Given the description of an element on the screen output the (x, y) to click on. 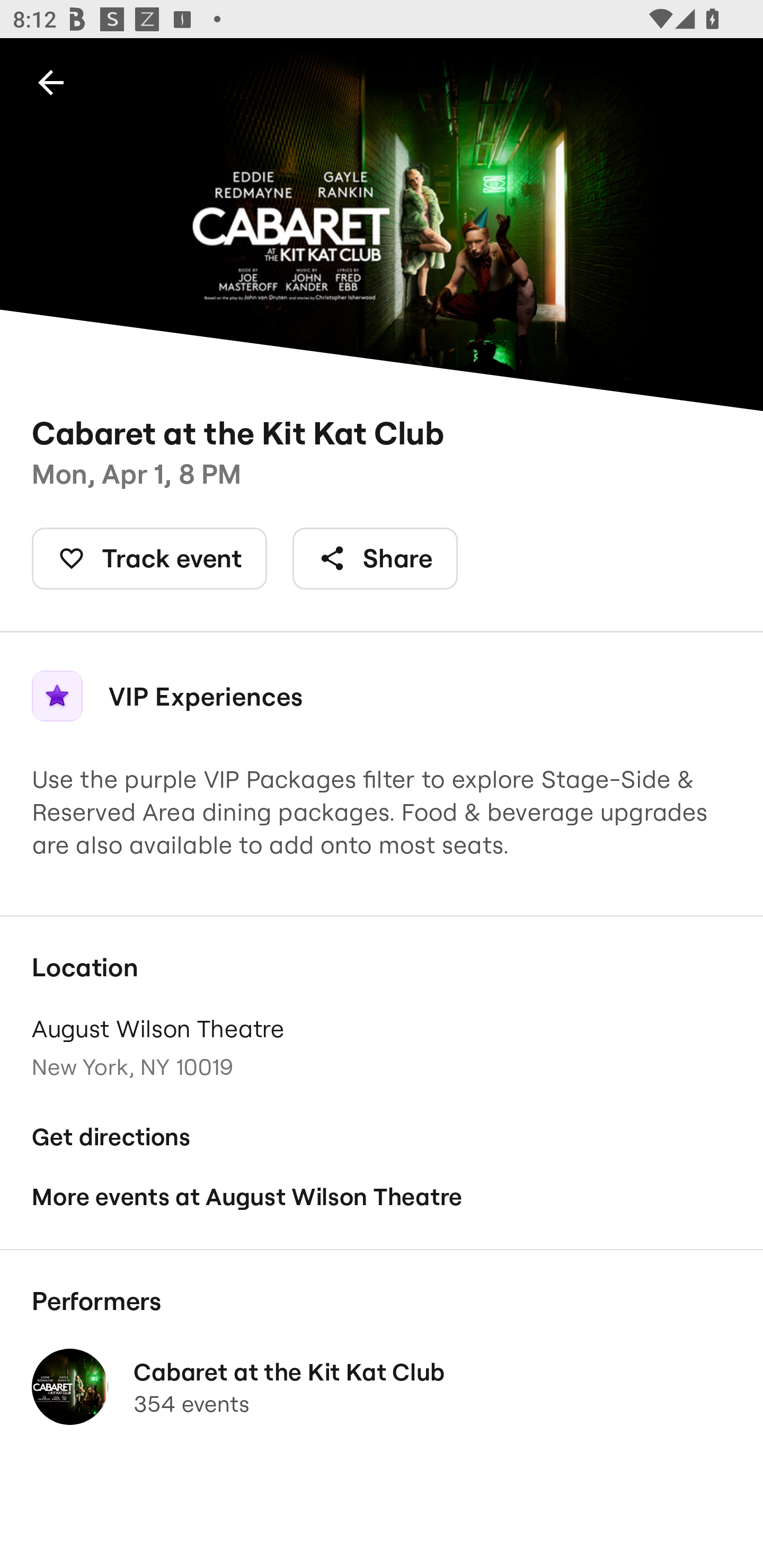
Back (50, 81)
Track event (149, 557)
Share (374, 557)
Get directions (381, 1136)
More events at August Wilson Theatre (381, 1196)
Cabaret at the Kit Kat Club 354 events (381, 1386)
